Given the description of an element on the screen output the (x, y) to click on. 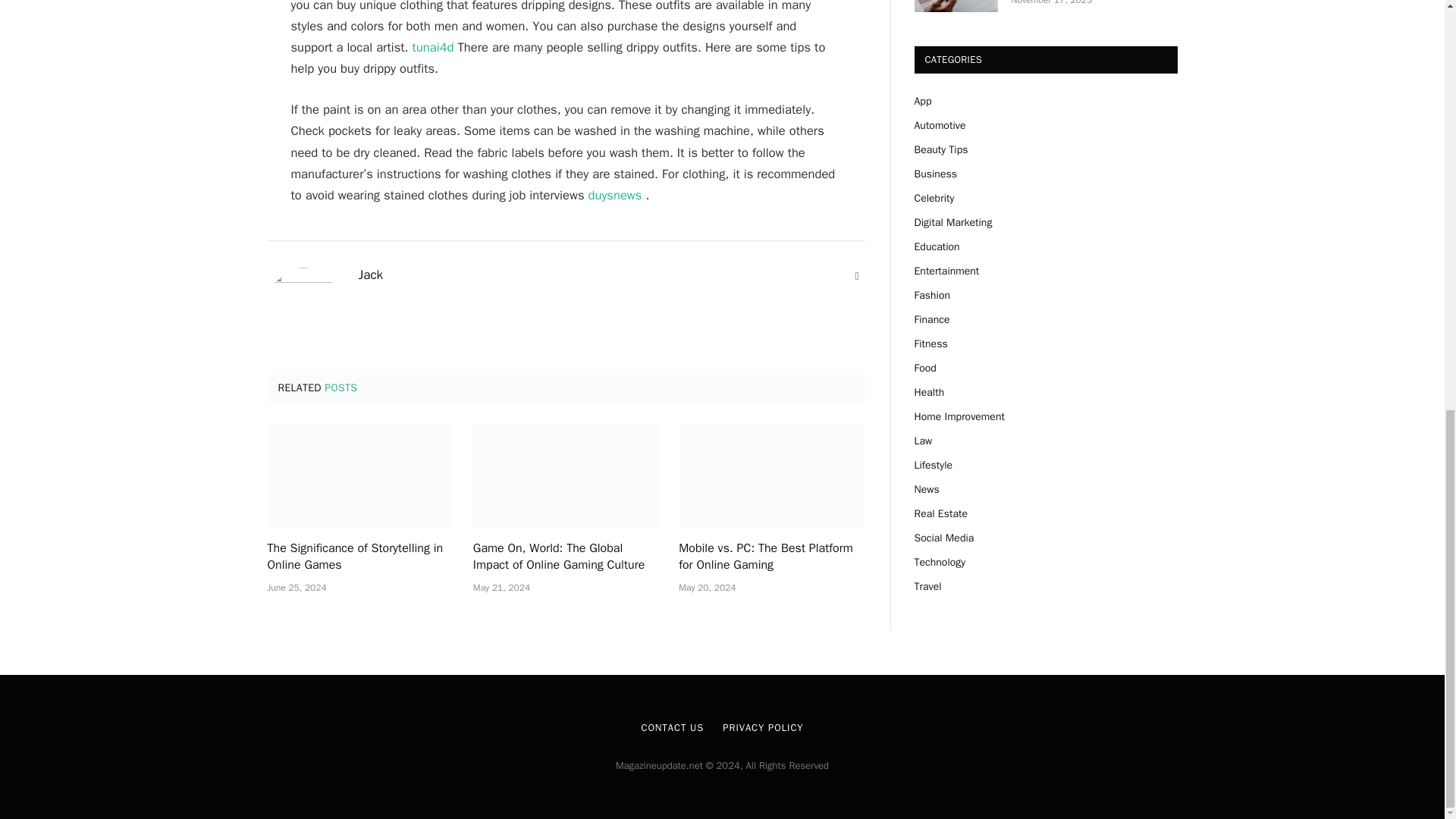
Posts by Jack (370, 274)
The Significance of Storytelling in Online Games (359, 476)
Website (856, 276)
tunai4d (433, 47)
The Significance of Storytelling in Online Games (359, 557)
Jack (370, 274)
Website (856, 276)
Mobile vs. PC: The Best Platform for Online Gaming (771, 557)
Mobile vs. PC: The Best Platform for Online Gaming (771, 476)
Game On, World: The Global Impact of Online Gaming Culture (566, 557)
